Given the description of an element on the screen output the (x, y) to click on. 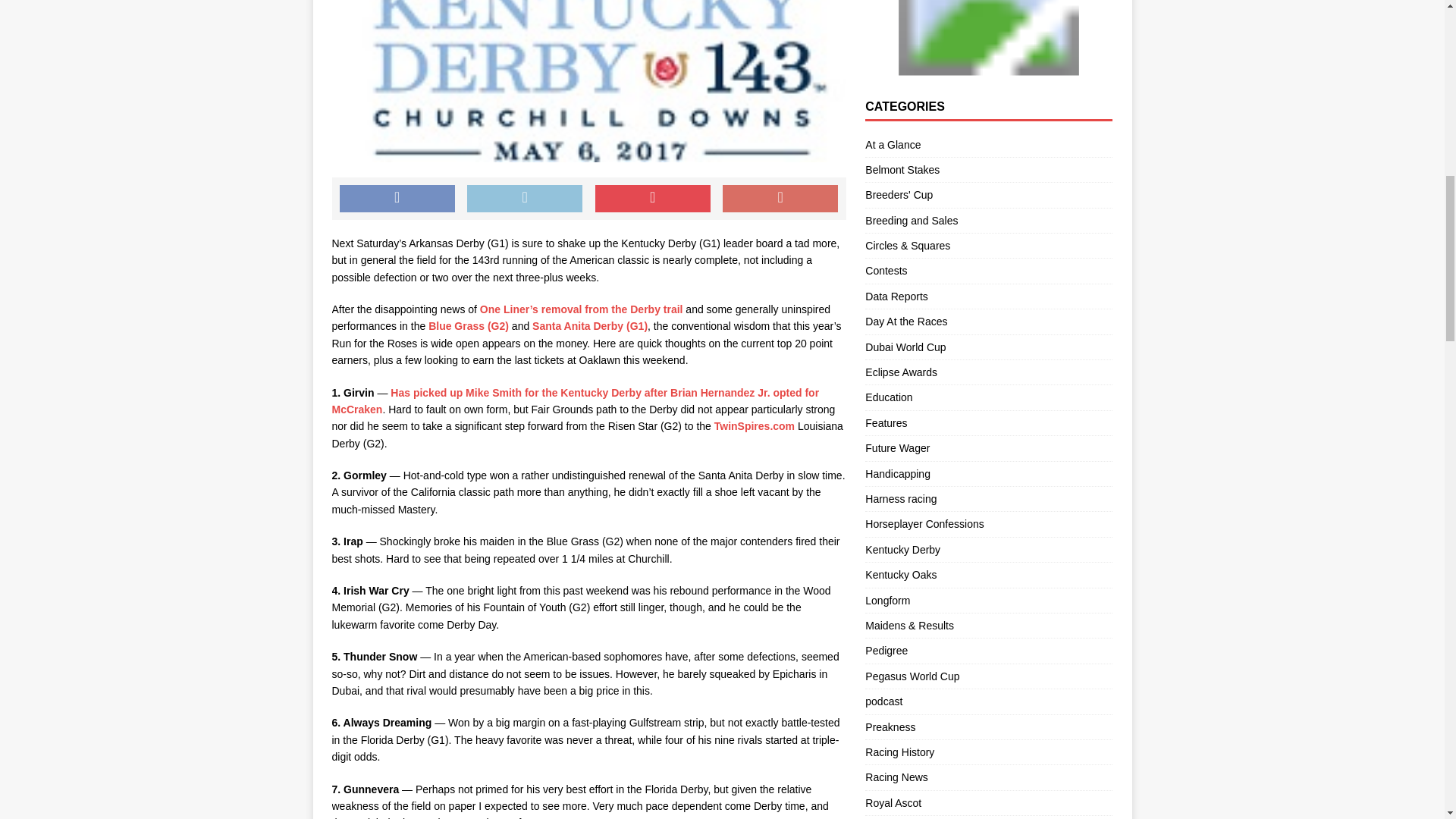
Tweet This Post (524, 198)
2017 Kentucky Derby Logo 200 (588, 81)
Share on Facebook (396, 198)
Pin This Post (652, 198)
